Given the description of an element on the screen output the (x, y) to click on. 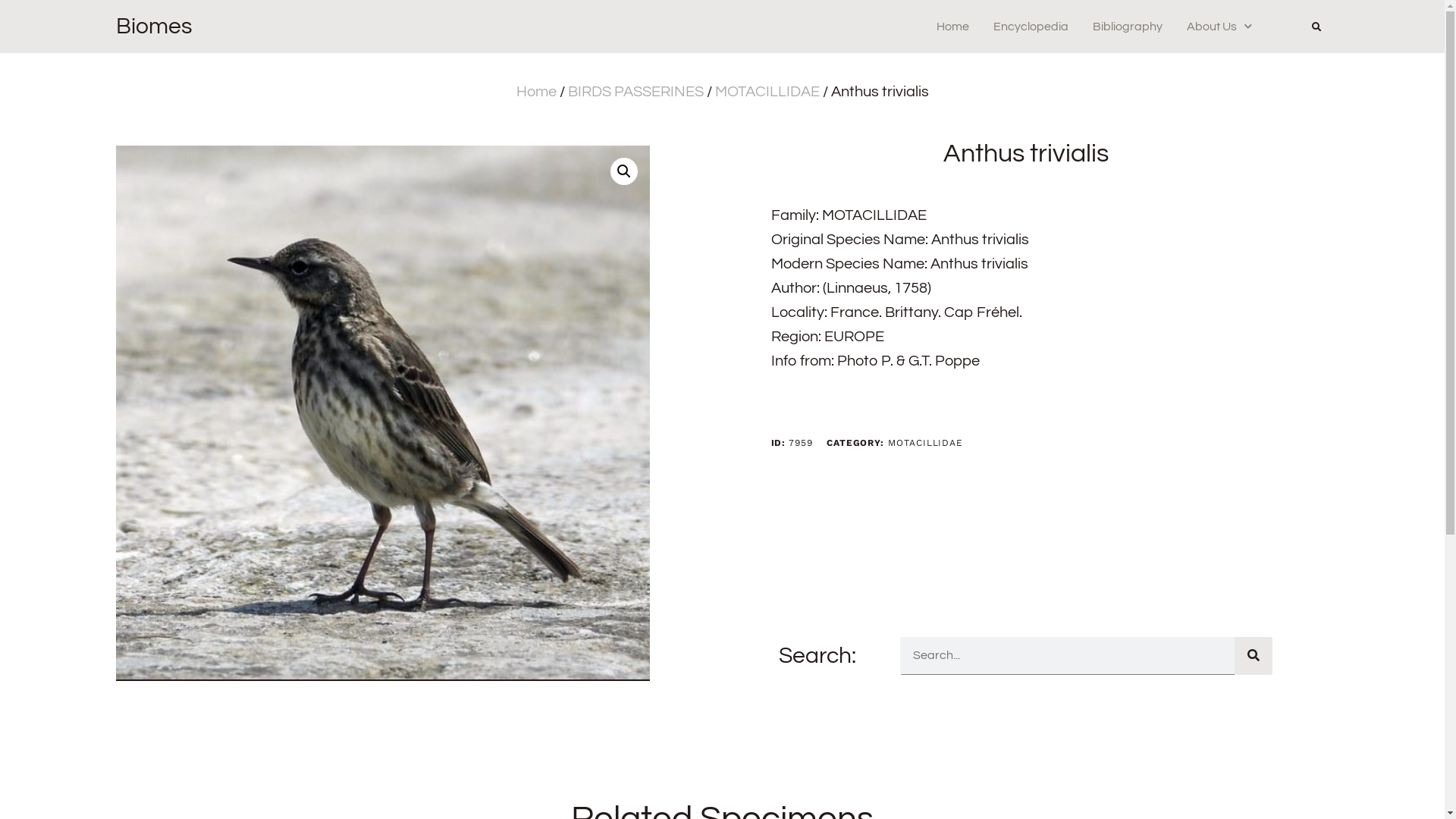
Bibliography Element type: text (1127, 26)
MOTACILLIDAE Element type: text (925, 442)
Encyclopedia Element type: text (1030, 26)
About Us Element type: text (1219, 26)
07959 Element type: hover (382, 412)
Home Element type: text (535, 91)
Home Element type: text (952, 26)
Biomes Element type: text (153, 25)
BIRDS PASSERINES Element type: text (634, 91)
MOTACILLIDAE Element type: text (766, 91)
